Given the description of an element on the screen output the (x, y) to click on. 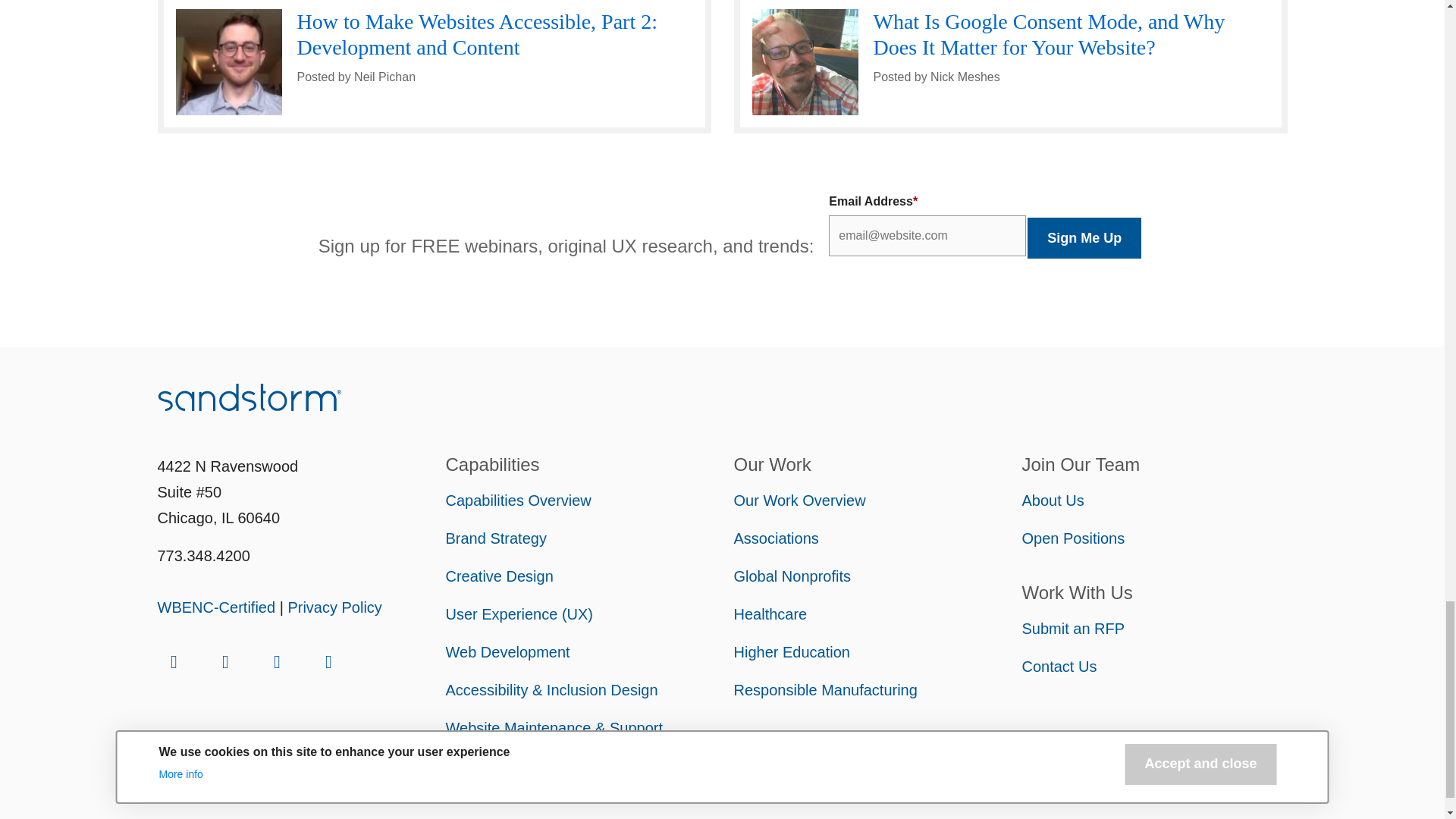
Sandstorm Design Twitter (329, 661)
Capabilities: Brand Strategy (496, 538)
Sandstorm Design Instagram (226, 661)
Sign Me Up (1084, 237)
Capabilities: Creative Design (499, 576)
Capabilities: Human-Centered and Research-Driven (518, 500)
Sandstorm Design Linked In (173, 661)
Capabilities: Web Accessibility and Inclusive UX Design  (551, 689)
Global Nonprofit Web Design and Development (792, 576)
Our Work (799, 500)
Privacy Policy (333, 606)
Data Analytics (493, 765)
Sandstorm Design Facebook (277, 661)
